Given the description of an element on the screen output the (x, y) to click on. 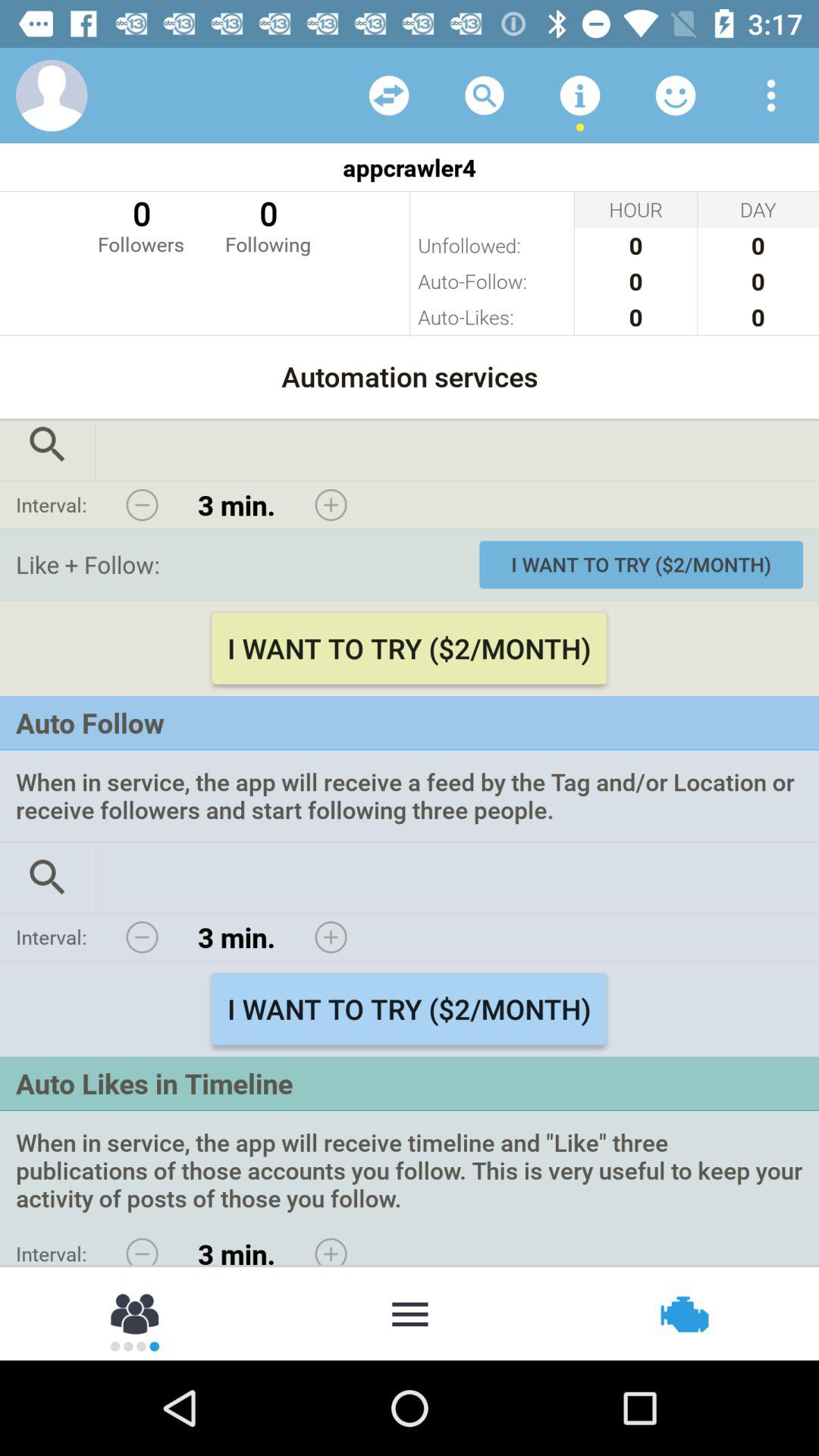
search it (47, 877)
